Given the description of an element on the screen output the (x, y) to click on. 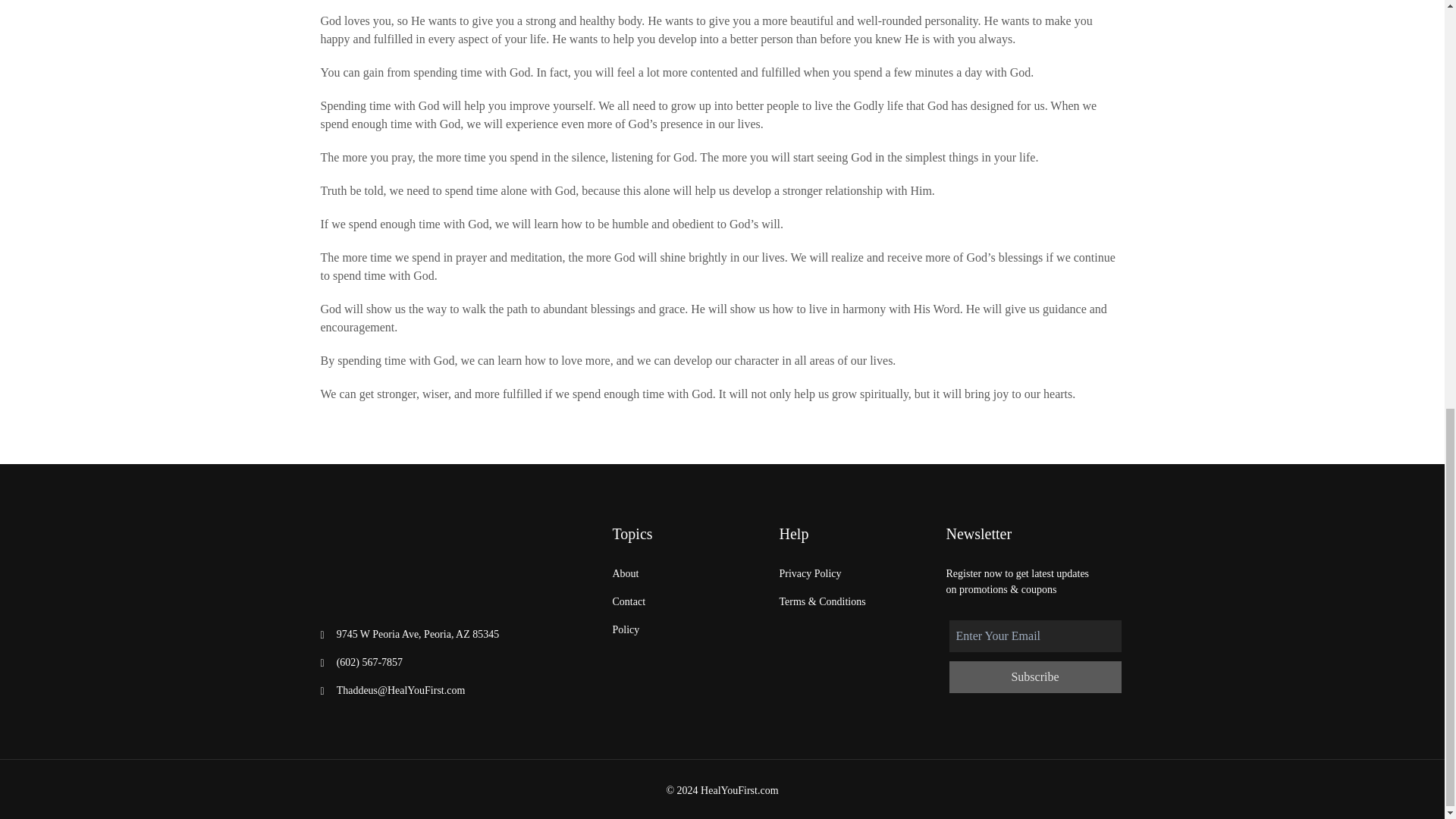
Subscribe (1035, 676)
Policy (626, 629)
Privacy Policy (809, 573)
Contact (629, 601)
About (625, 573)
